Given the description of an element on the screen output the (x, y) to click on. 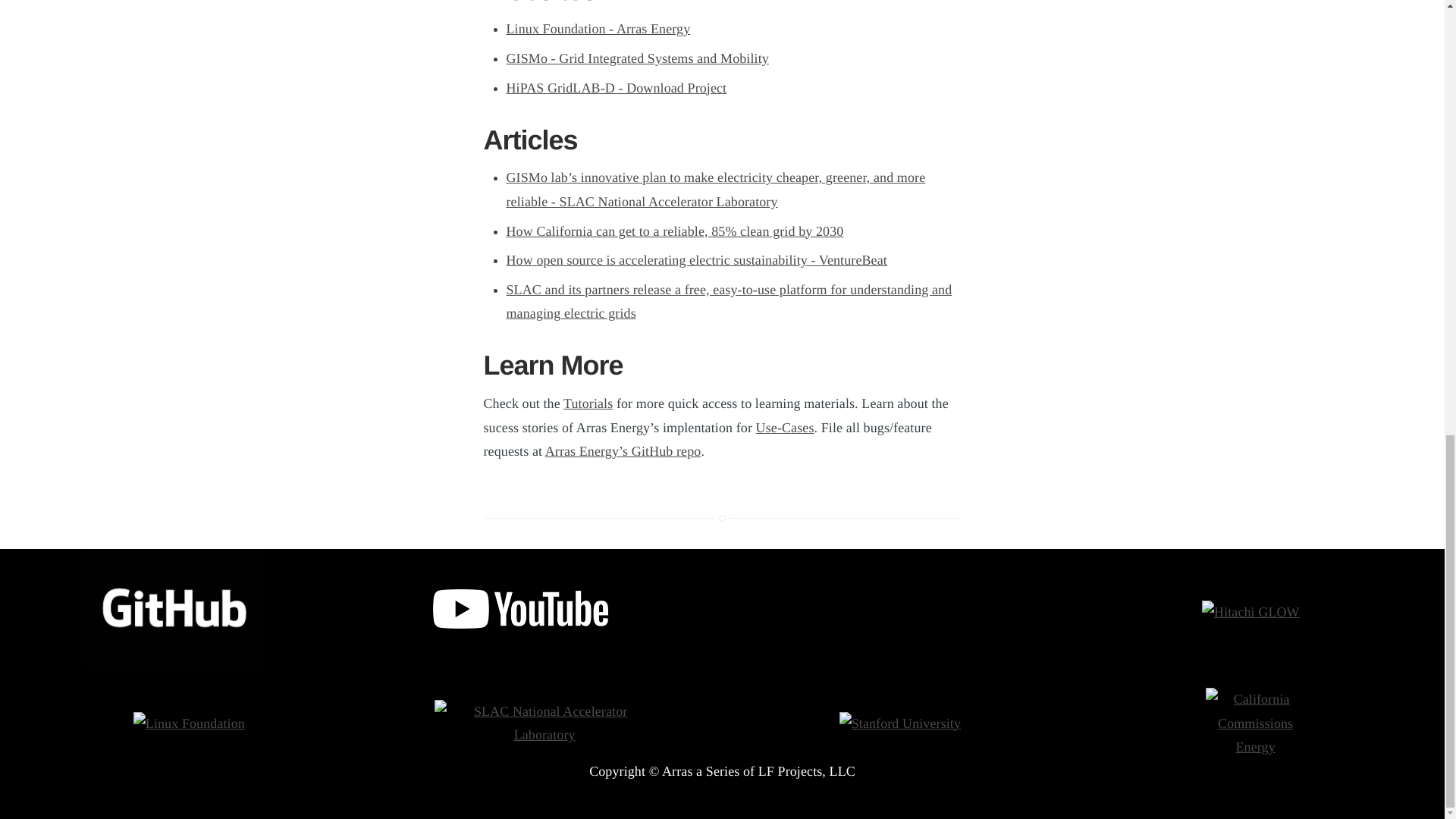
Linux Foundation - Arras Energy (598, 28)
Use-Cases (784, 427)
GISMo - Grid Integrated Systems and Mobility (637, 58)
Tutorials (587, 403)
HiPAS GridLAB-D - Download Project (616, 87)
